Given the description of an element on the screen output the (x, y) to click on. 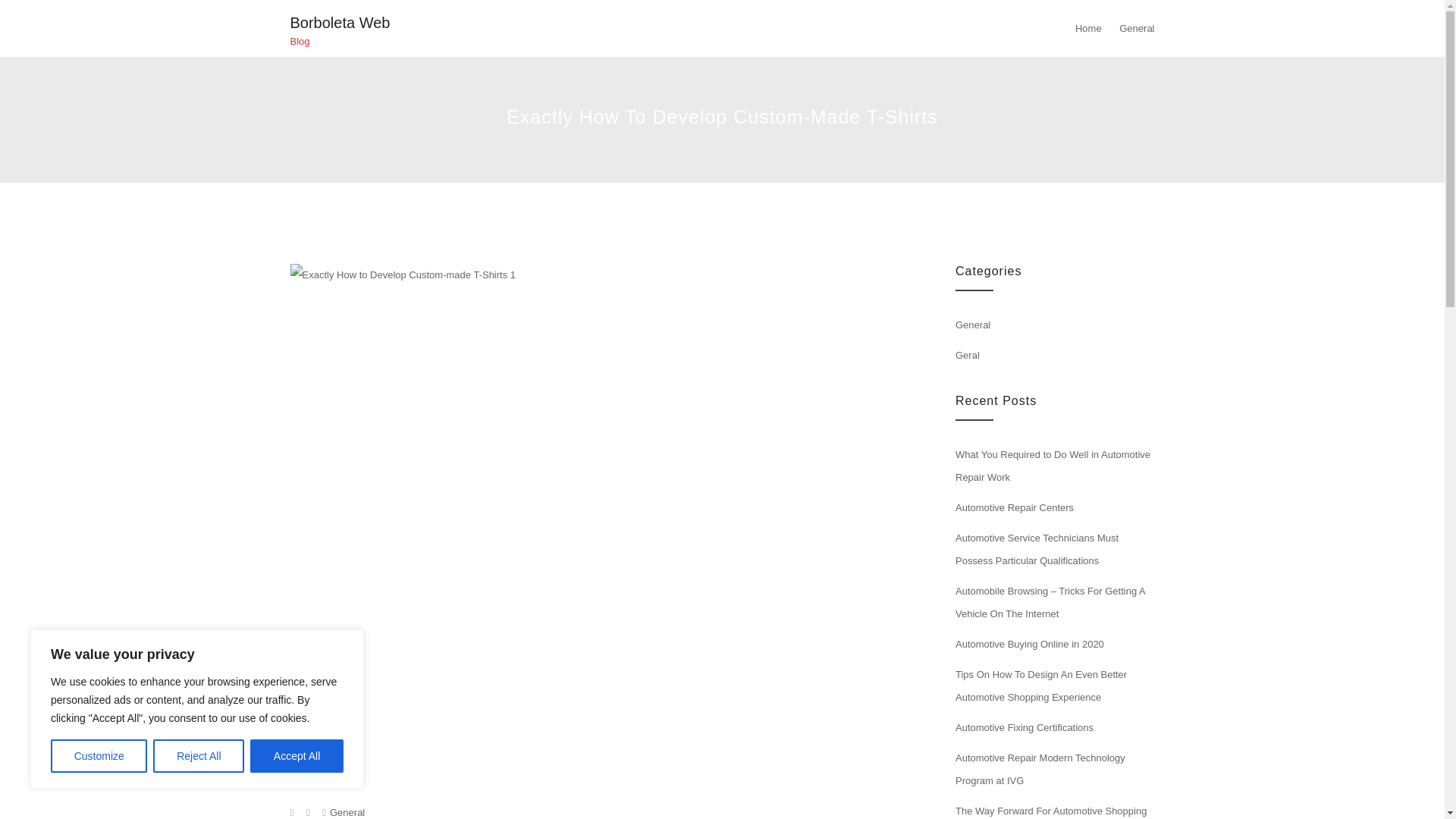
Accept All (296, 756)
Customize (98, 756)
Automotive Fixing Certifications (1024, 727)
General (972, 324)
The Way Forward For Automotive Shopping Is Going Digital (1051, 812)
Automotive Repair Modern Technology Program at IVG (1040, 769)
Automotive Repair Centers (1014, 507)
Automotive Buying Online in 2020 (1029, 644)
Geral (967, 355)
Borboleta Web (339, 22)
Reject All (198, 756)
General (347, 812)
